Given the description of an element on the screen output the (x, y) to click on. 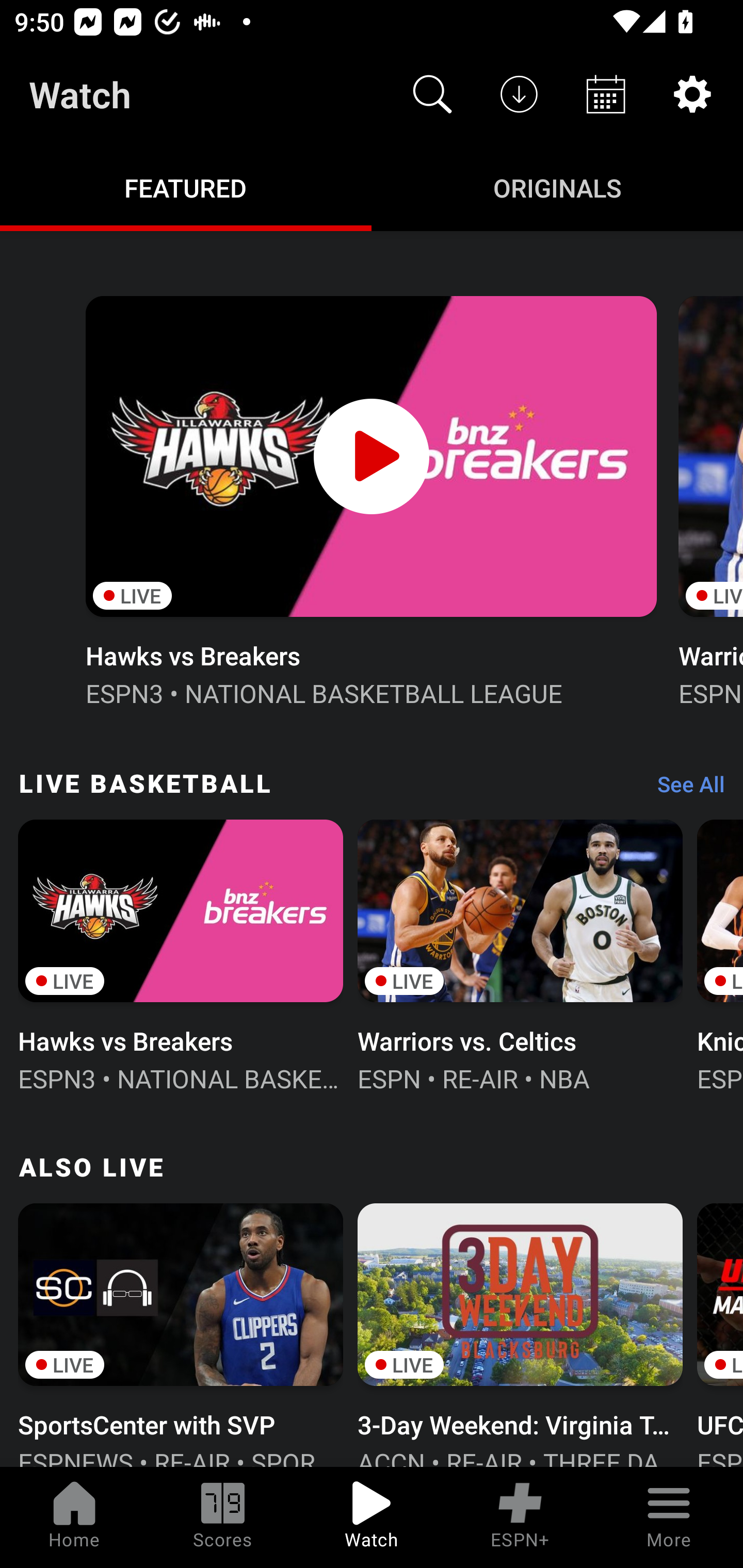
Search (432, 93)
Downloads (518, 93)
Schedule (605, 93)
Settings (692, 93)
Originals ORIGINALS (557, 187)
See All (683, 788)
LIVE Warriors vs. Celtics ESPN • RE-AIR • NBA (519, 954)
Home (74, 1517)
Scores (222, 1517)
ESPN+ (519, 1517)
More (668, 1517)
